Given the description of an element on the screen output the (x, y) to click on. 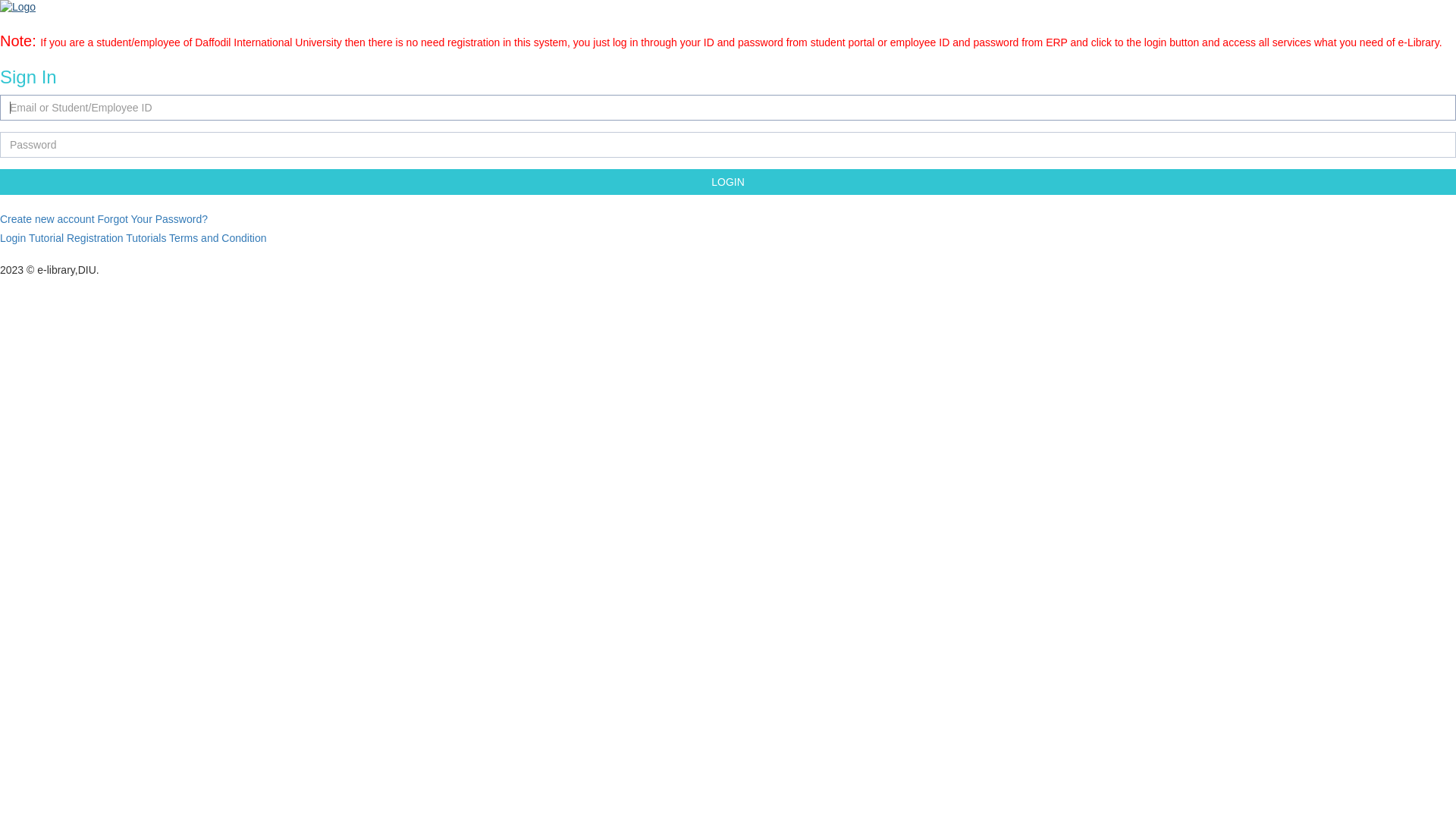
Login Tutorial Element type: text (33, 238)
Create new account Element type: text (47, 219)
Registration Tutorials Element type: text (116, 238)
Forgot Your Password? Element type: text (152, 219)
Terms and Condition Element type: text (217, 238)
